Given the description of an element on the screen output the (x, y) to click on. 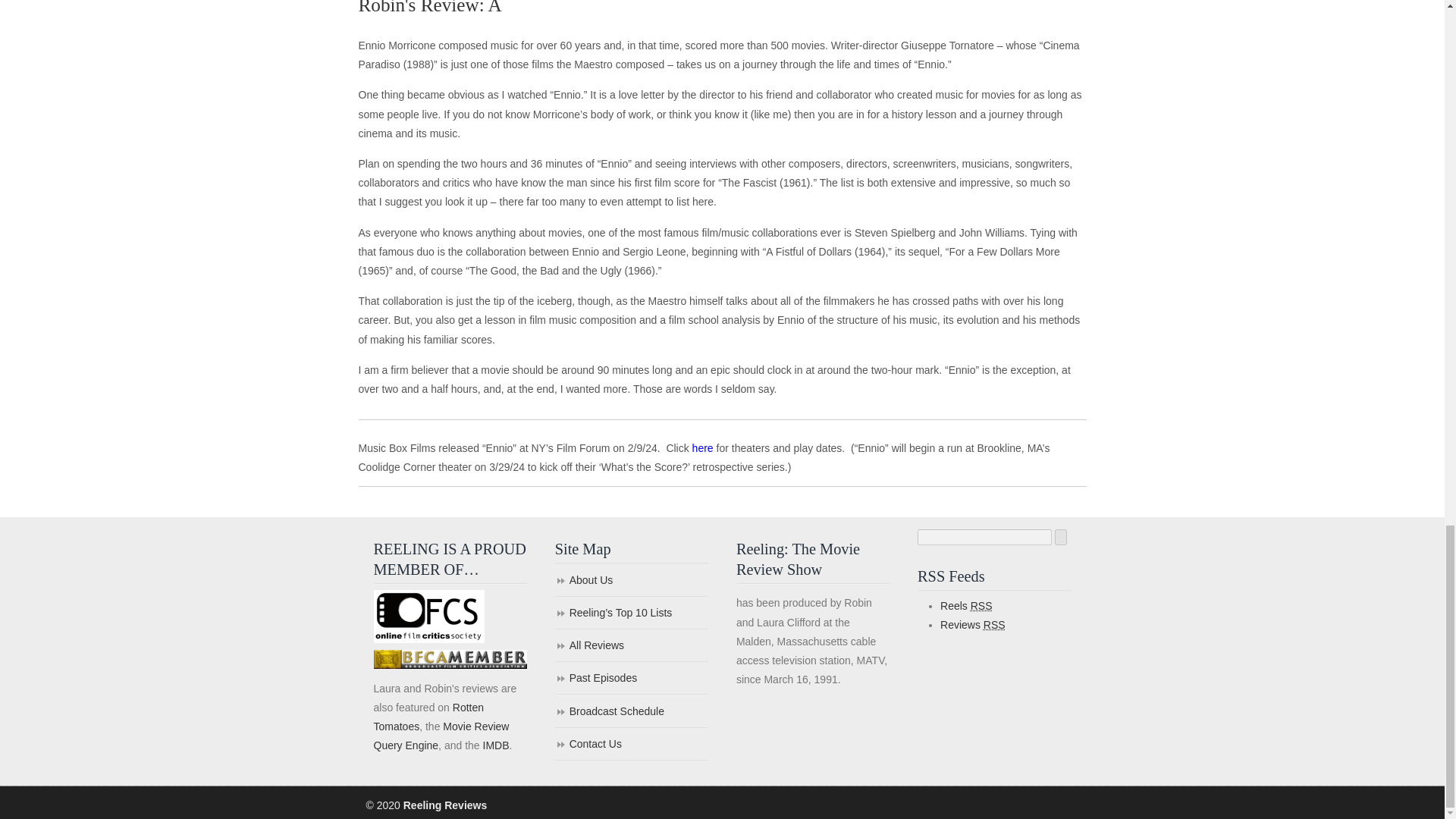
The latest Episodes in RSS (965, 605)
Contact Us (630, 744)
Broadcast Schedule (630, 712)
The latest Reviews in RSS (973, 624)
IMDB (494, 745)
Rotten Tomatoes (427, 716)
Past Episodes (630, 678)
About Us (630, 581)
here (703, 448)
All Reviews (630, 645)
